Given the description of an element on the screen output the (x, y) to click on. 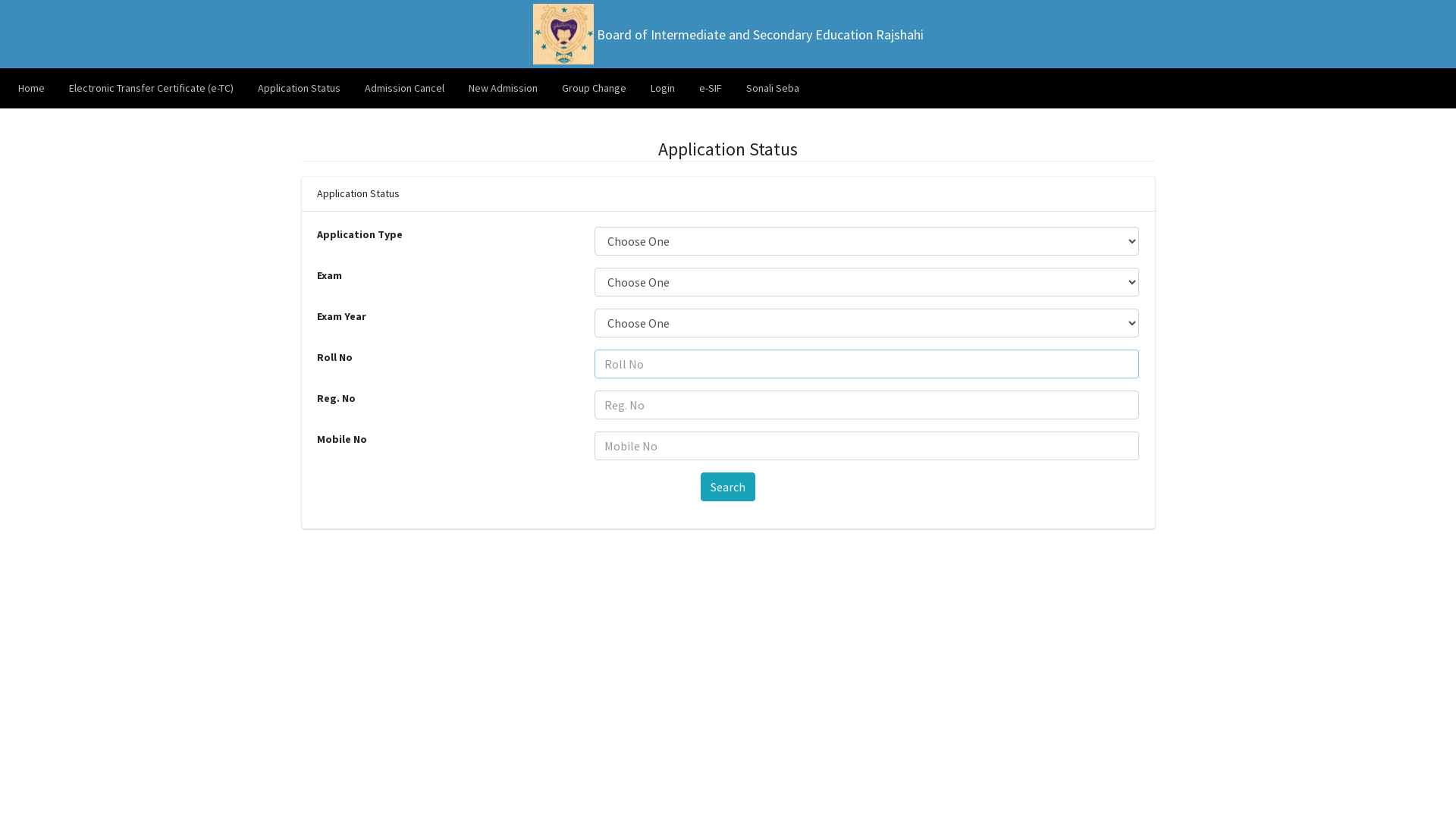
Login Element type: text (662, 88)
New Admission Element type: text (502, 88)
Electronic Transfer Certificate (e-TC) Element type: text (150, 88)
Sonali Seba Element type: text (772, 88)
Group Change Element type: text (593, 88)
Application Status Element type: text (298, 88)
Admission Cancel Element type: text (404, 88)
Home Element type: text (31, 88)
Search Element type: text (727, 486)
e-SIF Element type: text (710, 88)
